Given the description of an element on the screen output the (x, y) to click on. 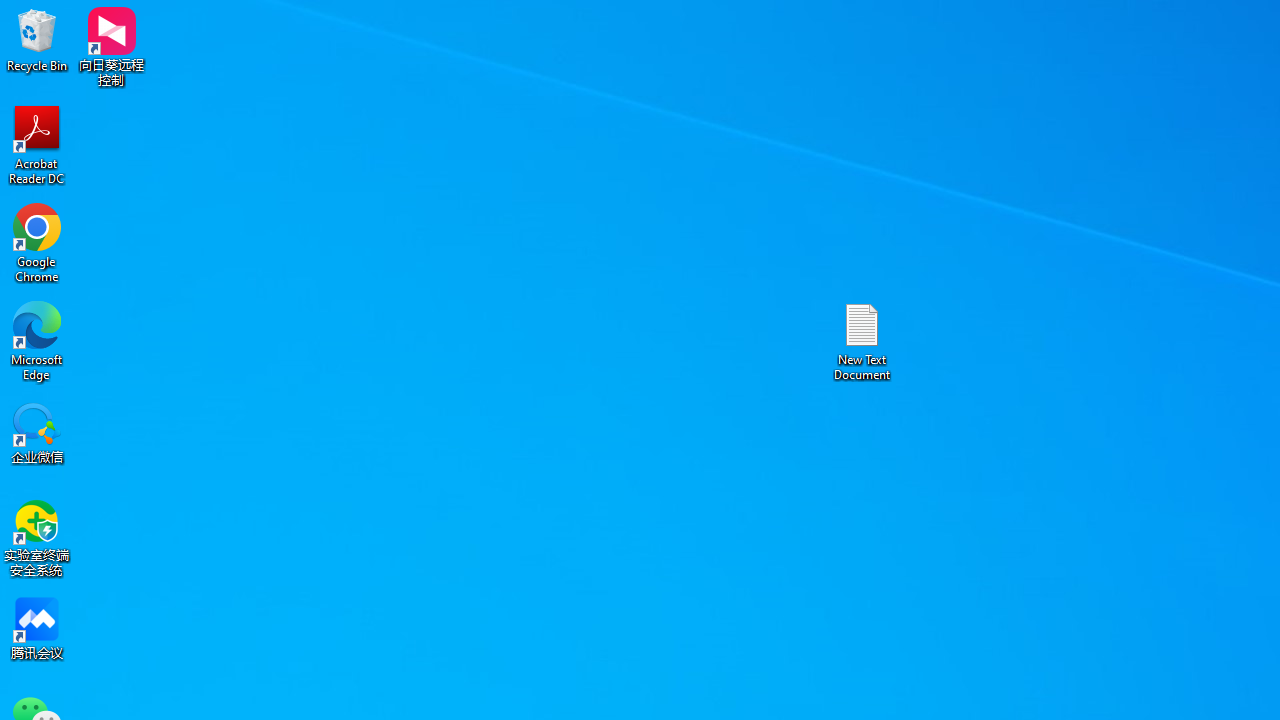
Heading 2 (1063, 100)
Subtitle (1208, 100)
